Given the description of an element on the screen output the (x, y) to click on. 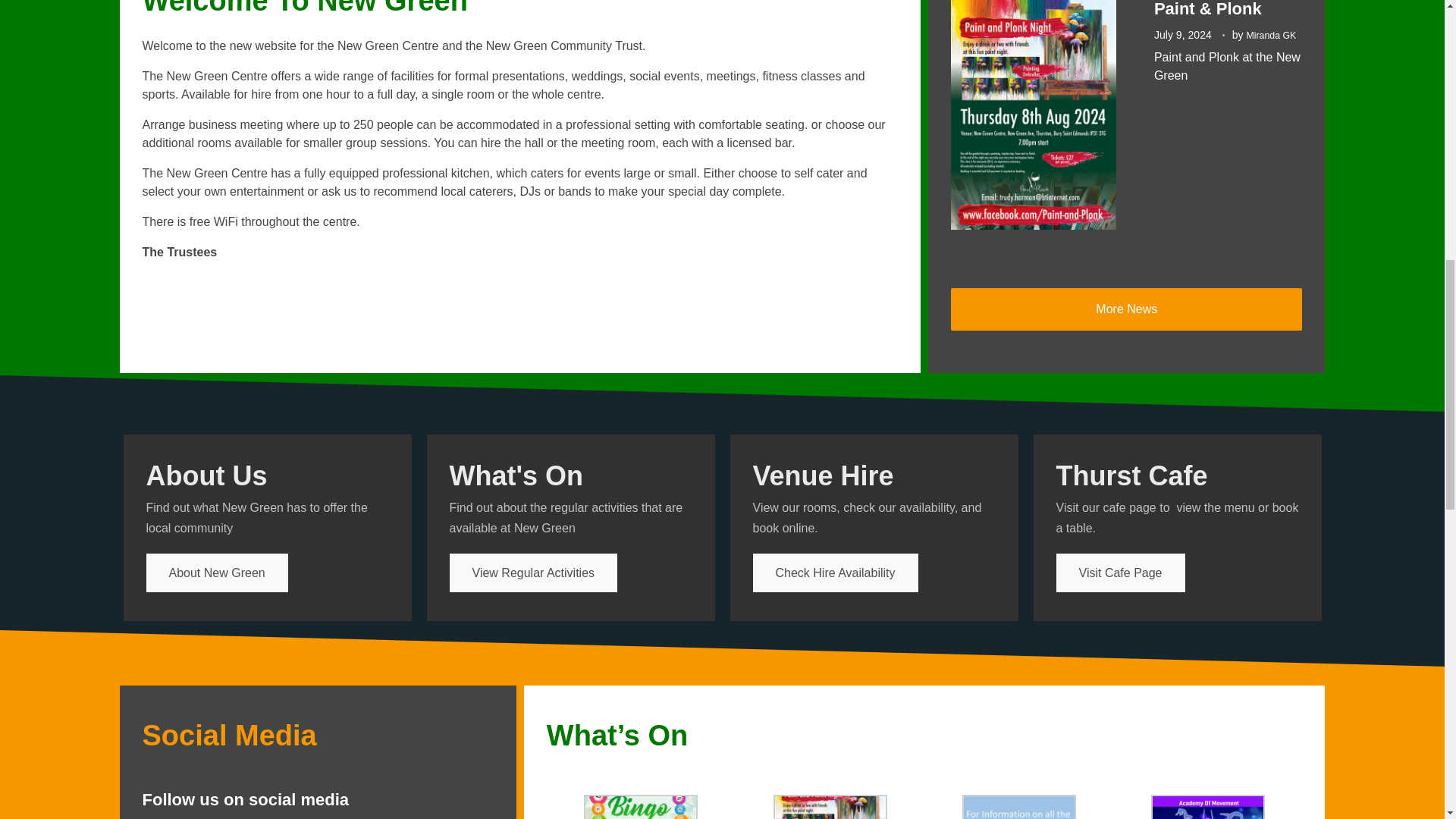
View all posts by Miranda GK (1271, 35)
